Given the description of an element on the screen output the (x, y) to click on. 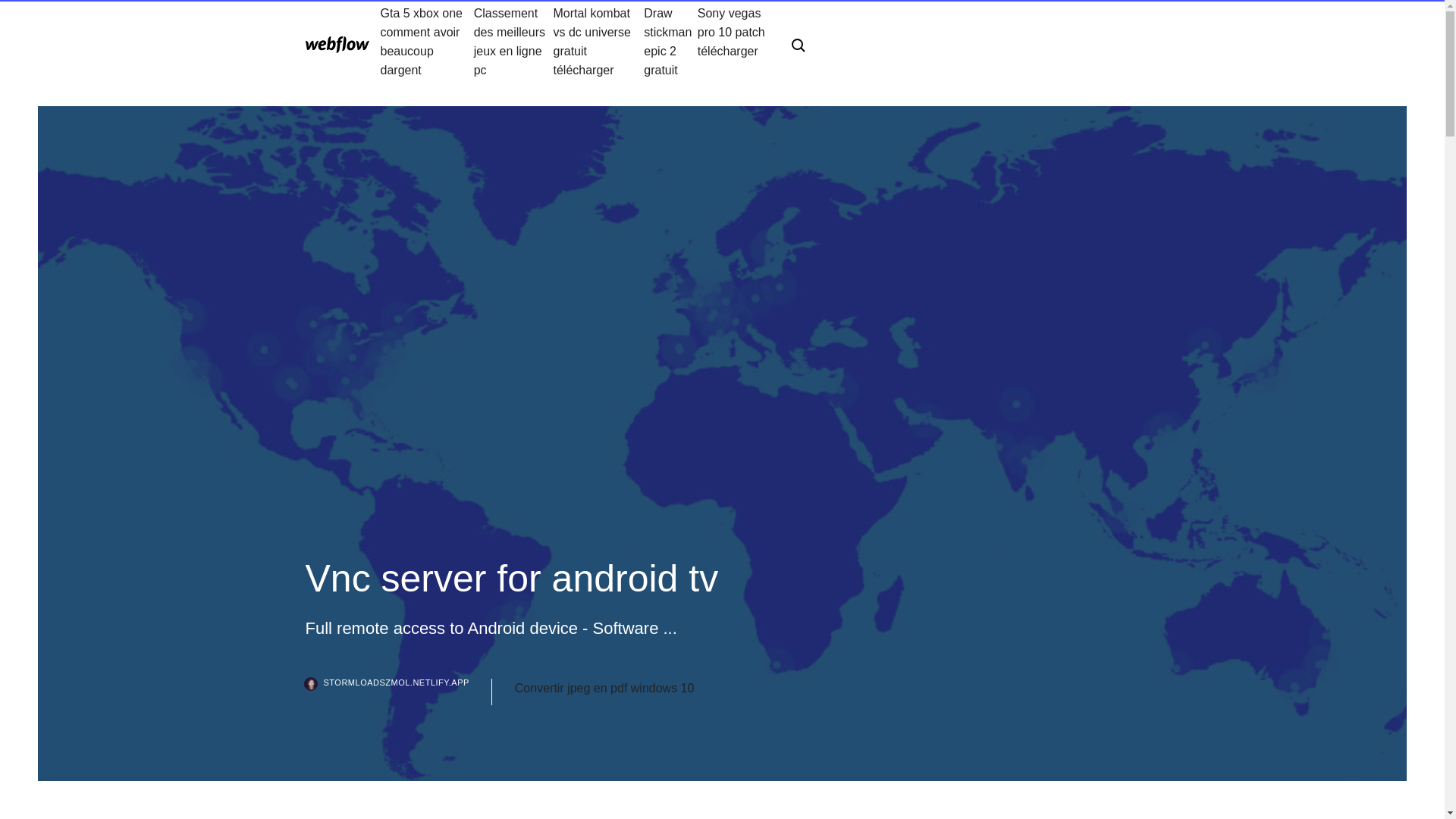
Gta 5 xbox one comment avoir beaucoup dargent (427, 41)
STORMLOADSZMOL.NETLIFY.APP (398, 691)
Classement des meilleurs jeux en ligne pc (513, 41)
Convertir jpeg en pdf windows 10 (604, 687)
